Given the description of an element on the screen output the (x, y) to click on. 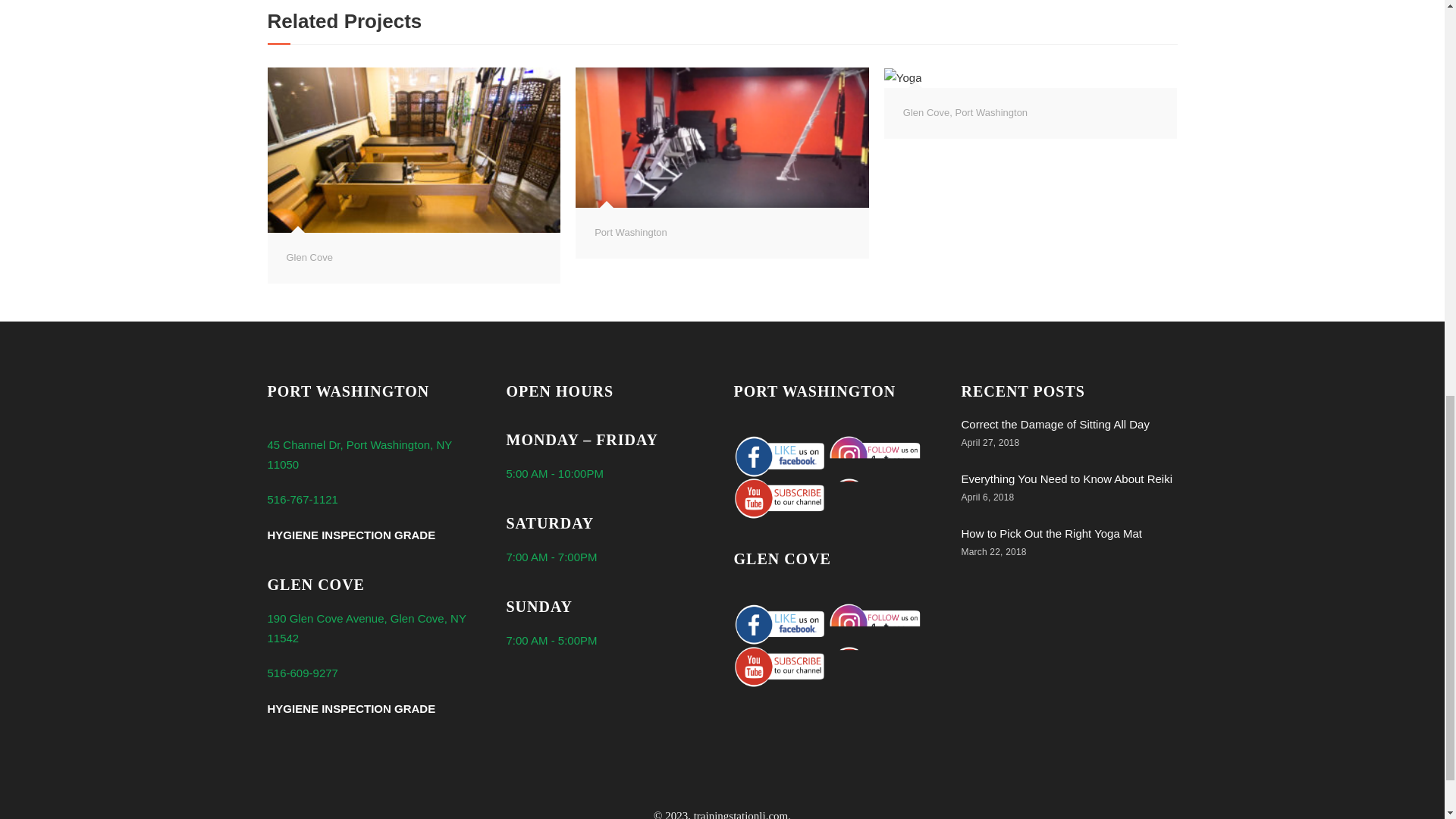
Correct the Damage of Sitting All Day (1055, 423)
HYGIENE INSPECTION GRADE (350, 534)
Port Washington (630, 232)
How to Pick Out the Right Yoga Mat (1050, 533)
Glen Cove (309, 256)
Glen Cove (309, 256)
HYGIENE INSPECTION GRADE (350, 707)
Port Washington (991, 112)
Port Washington (991, 112)
Glen Cove (925, 112)
